Given the description of an element on the screen output the (x, y) to click on. 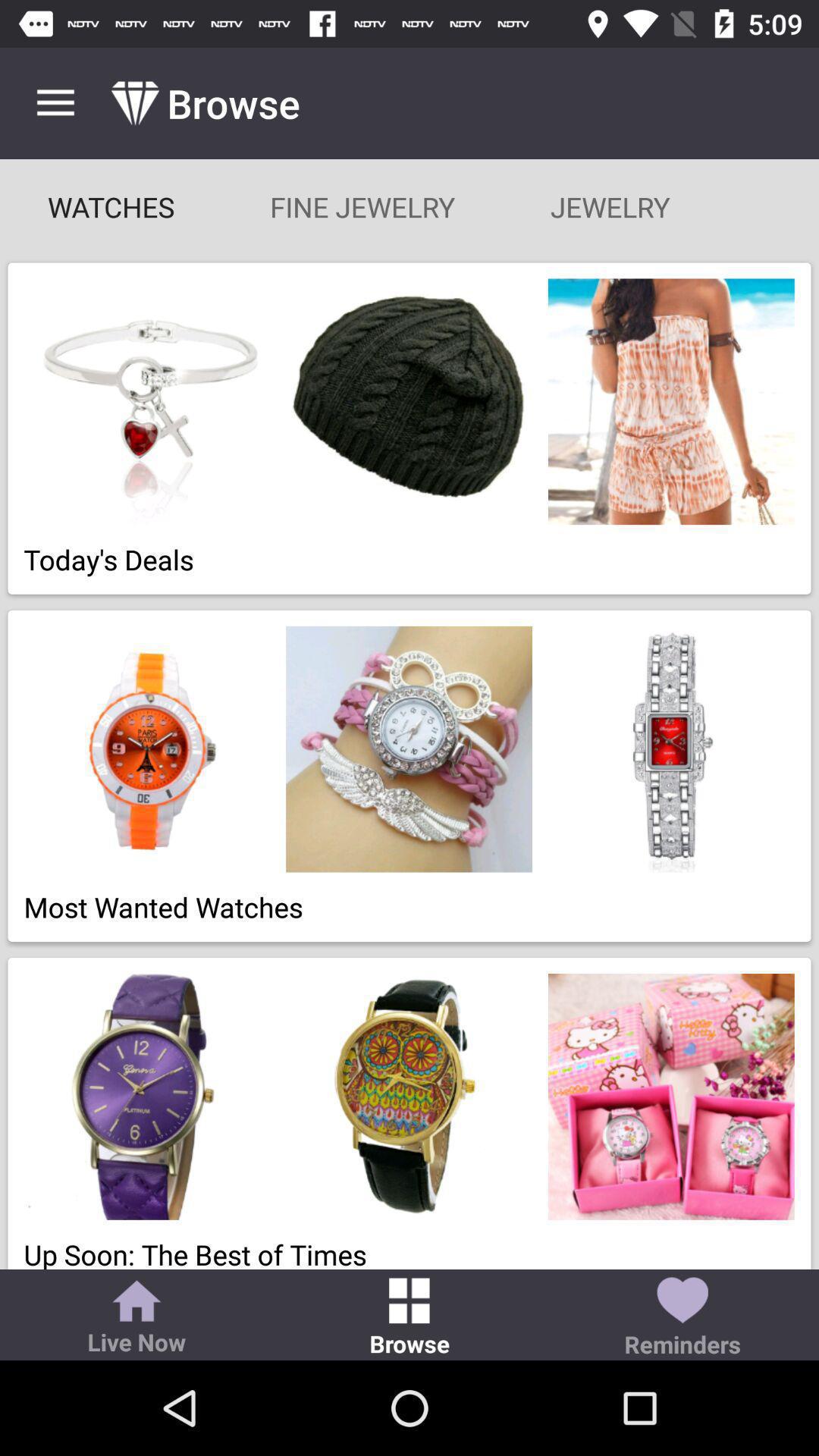
launch item to the right of watches item (362, 206)
